Given the description of an element on the screen output the (x, y) to click on. 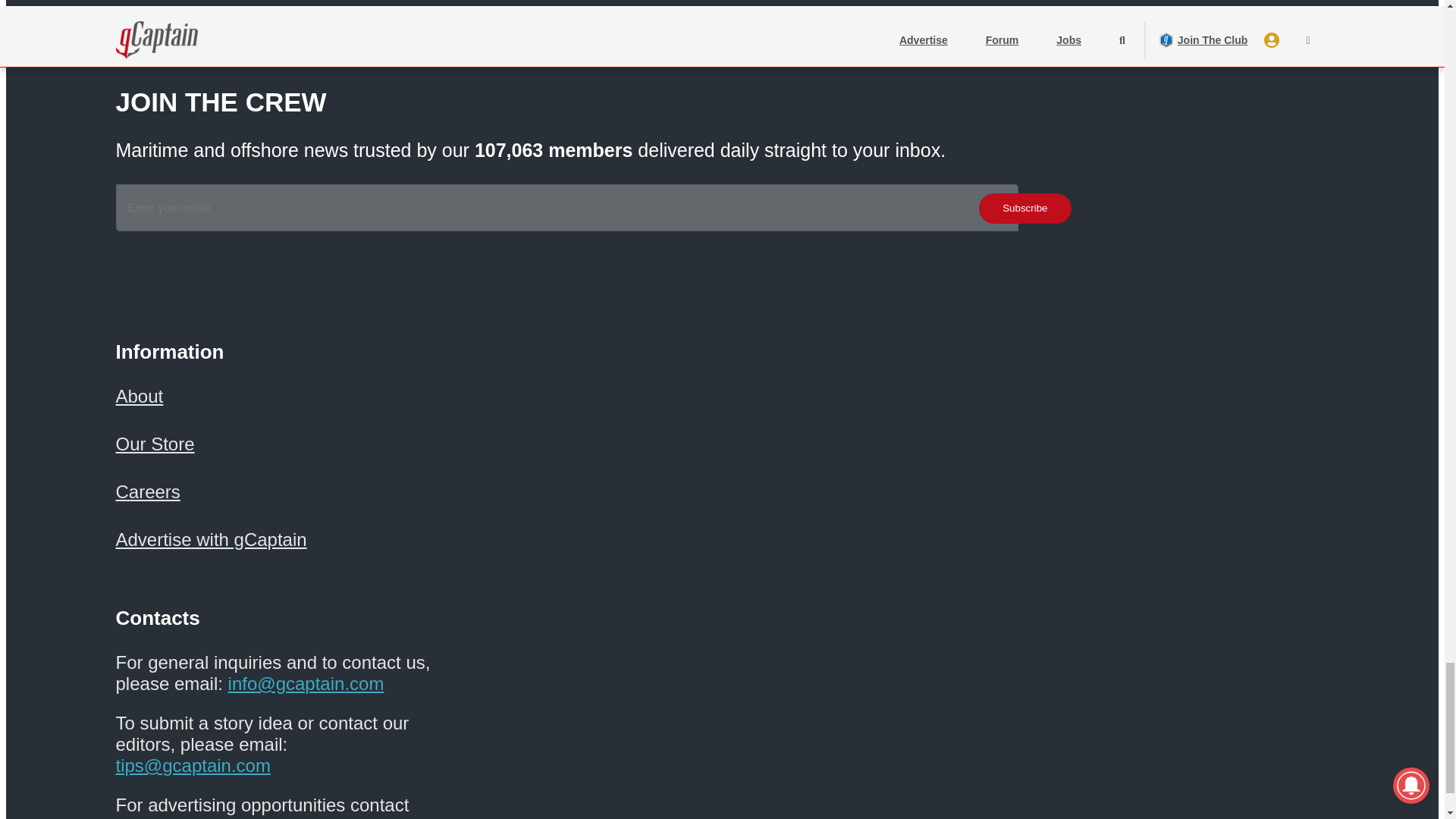
Subscribe (1024, 208)
